Given the description of an element on the screen output the (x, y) to click on. 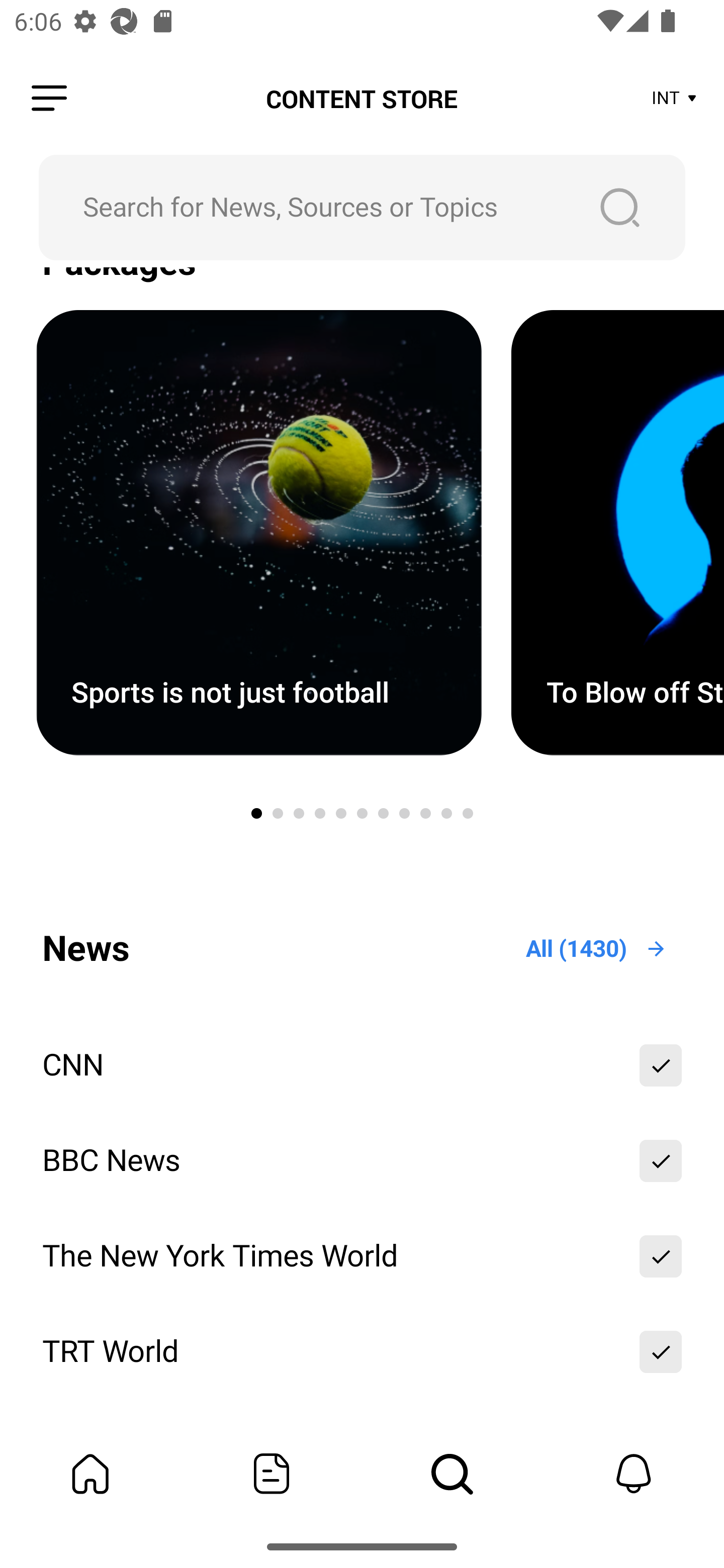
INT Store Area (674, 98)
Leading Icon (49, 98)
Search for News, Sources or Topics Search Button (361, 207)
All (1430) Open All Icon (596, 948)
CNN Add To My Bundle (361, 1065)
Add To My Bundle (660, 1065)
BBC News Add To My Bundle (361, 1159)
Add To My Bundle (660, 1159)
The New York Times World Add To My Bundle (361, 1255)
Add To My Bundle (660, 1255)
TRT World Add To My Bundle (361, 1351)
Add To My Bundle (660, 1351)
My Bundle (90, 1473)
Featured (271, 1473)
Notifications (633, 1473)
